Given the description of an element on the screen output the (x, y) to click on. 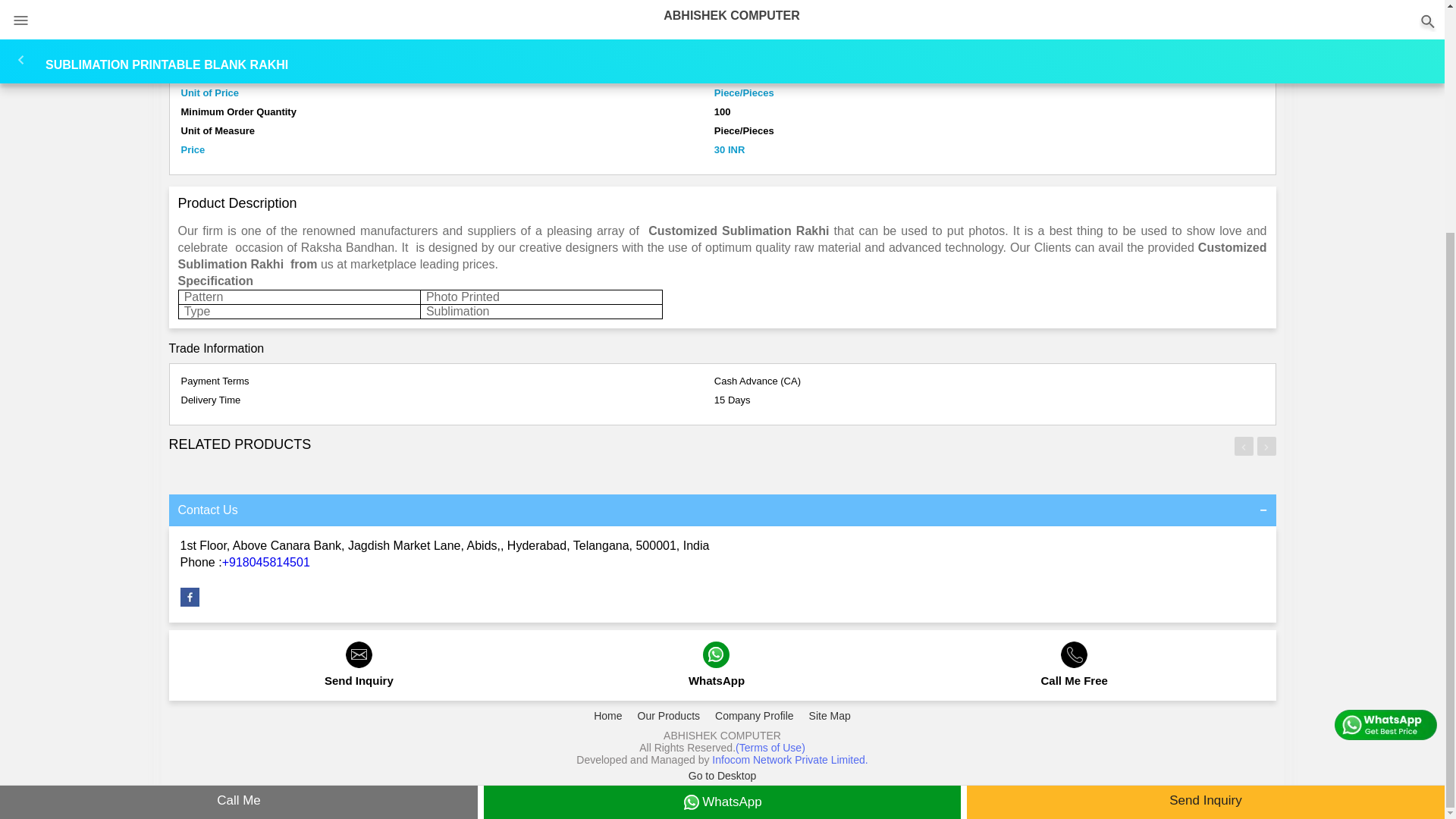
WhatsApp (721, 485)
Send Inquiry (359, 673)
Call Me (238, 485)
Home (607, 715)
Call Me Free (1074, 673)
Our Products (668, 715)
Site Map (829, 715)
Infocom Network Private Limited. (789, 759)
Facebook (189, 603)
Go to Desktop (722, 775)
Company Profile (753, 715)
WhatsApp (716, 673)
